Given the description of an element on the screen output the (x, y) to click on. 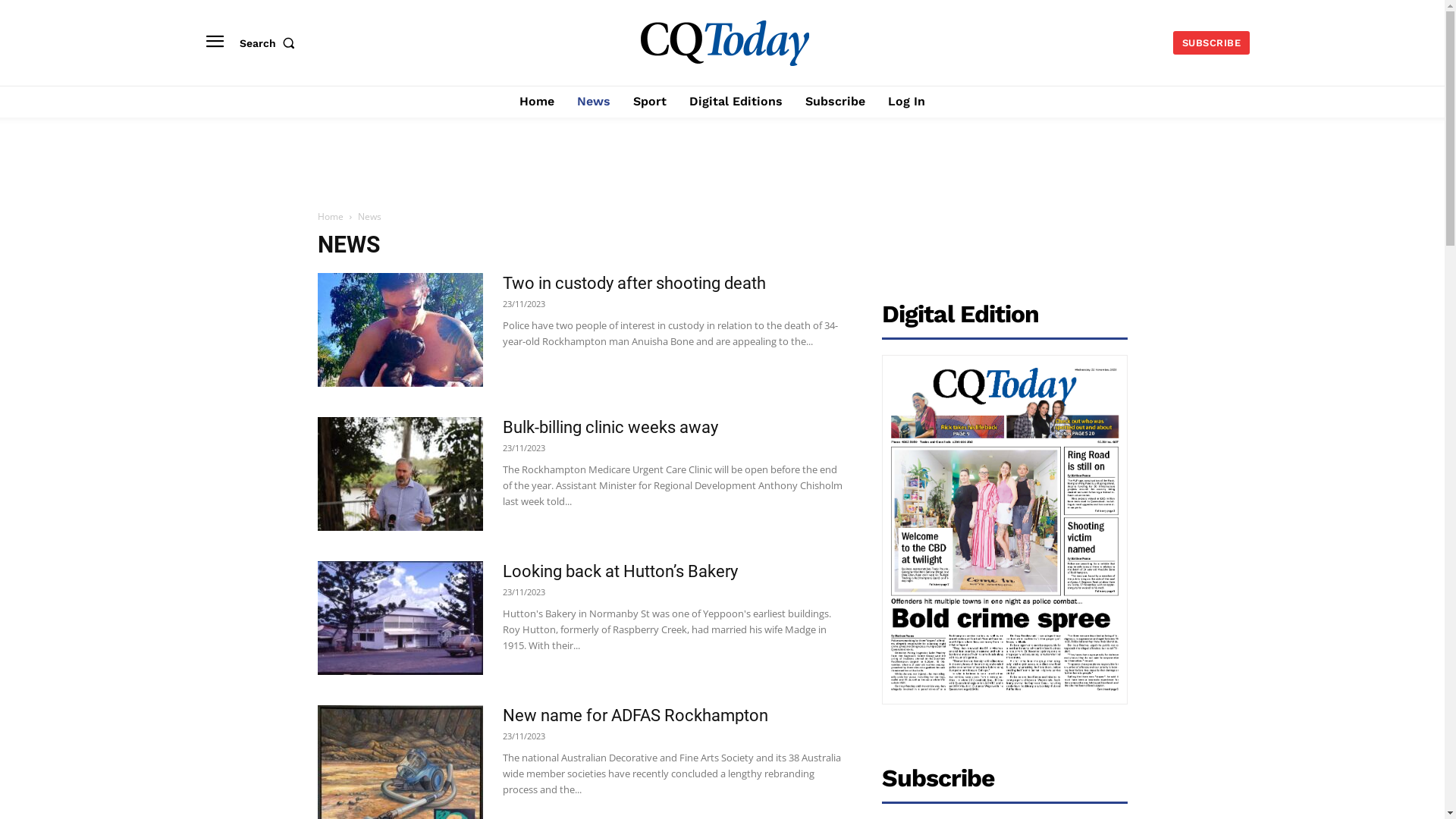
News Element type: text (593, 101)
SUBSCRIBE Element type: text (1211, 42)
New name for ADFAS Rockhampton Element type: text (634, 715)
Log In Element type: text (906, 101)
Home Element type: text (536, 101)
Sport Element type: text (649, 101)
Two in custody after shooting death Element type: text (633, 282)
Home Element type: text (329, 216)
Search Element type: text (270, 43)
Bulk-billing clinic weeks away Element type: text (609, 426)
Two in custody after shooting death Element type: hover (399, 329)
Subscribe Element type: text (834, 101)
Bulk-billing clinic weeks away Element type: hover (399, 473)
Digital Editions Element type: text (735, 101)
